Given the description of an element on the screen output the (x, y) to click on. 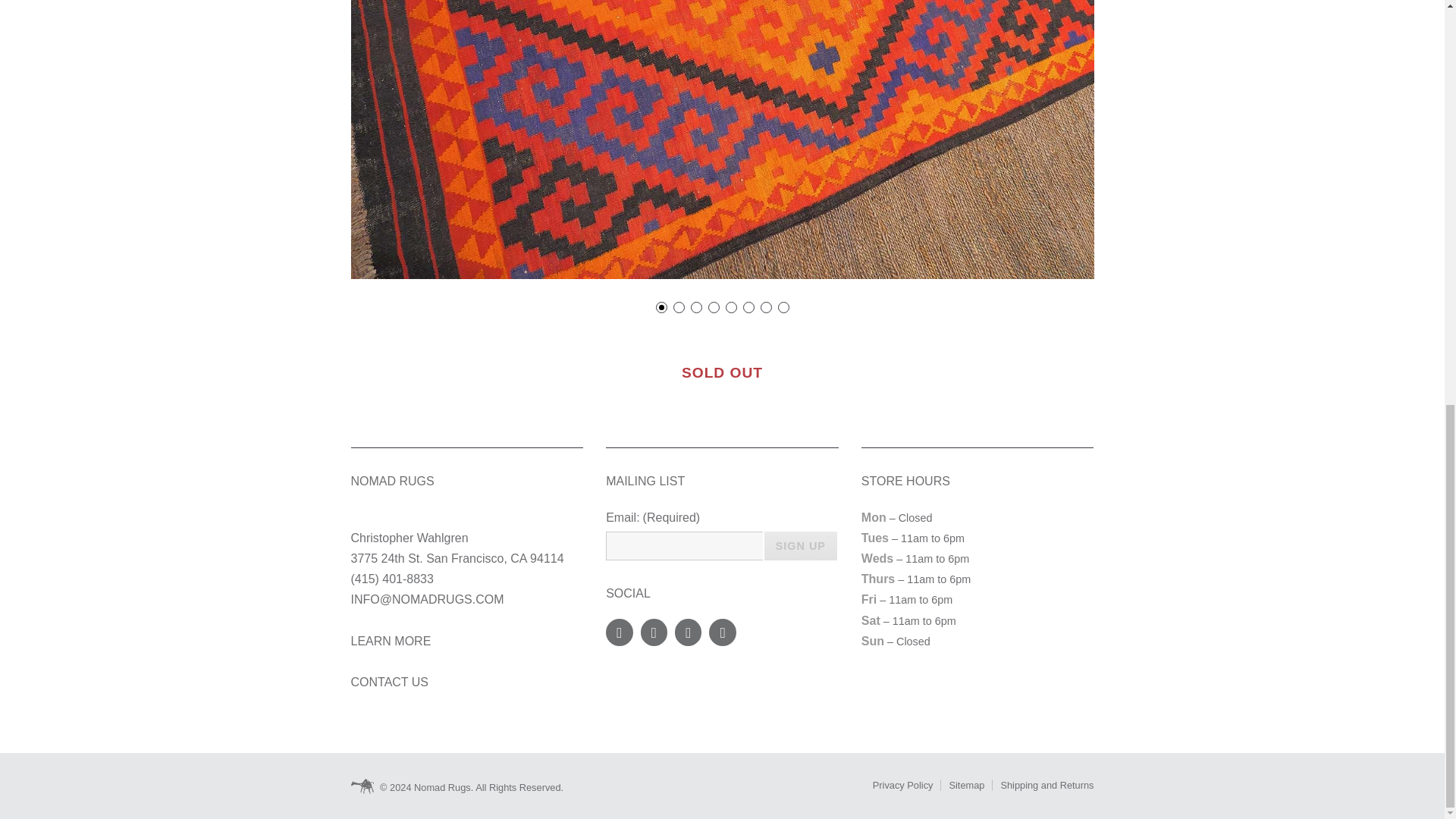
LEARN MORE (390, 640)
CONTACT US (389, 681)
Sign Up (800, 545)
